Given the description of an element on the screen output the (x, y) to click on. 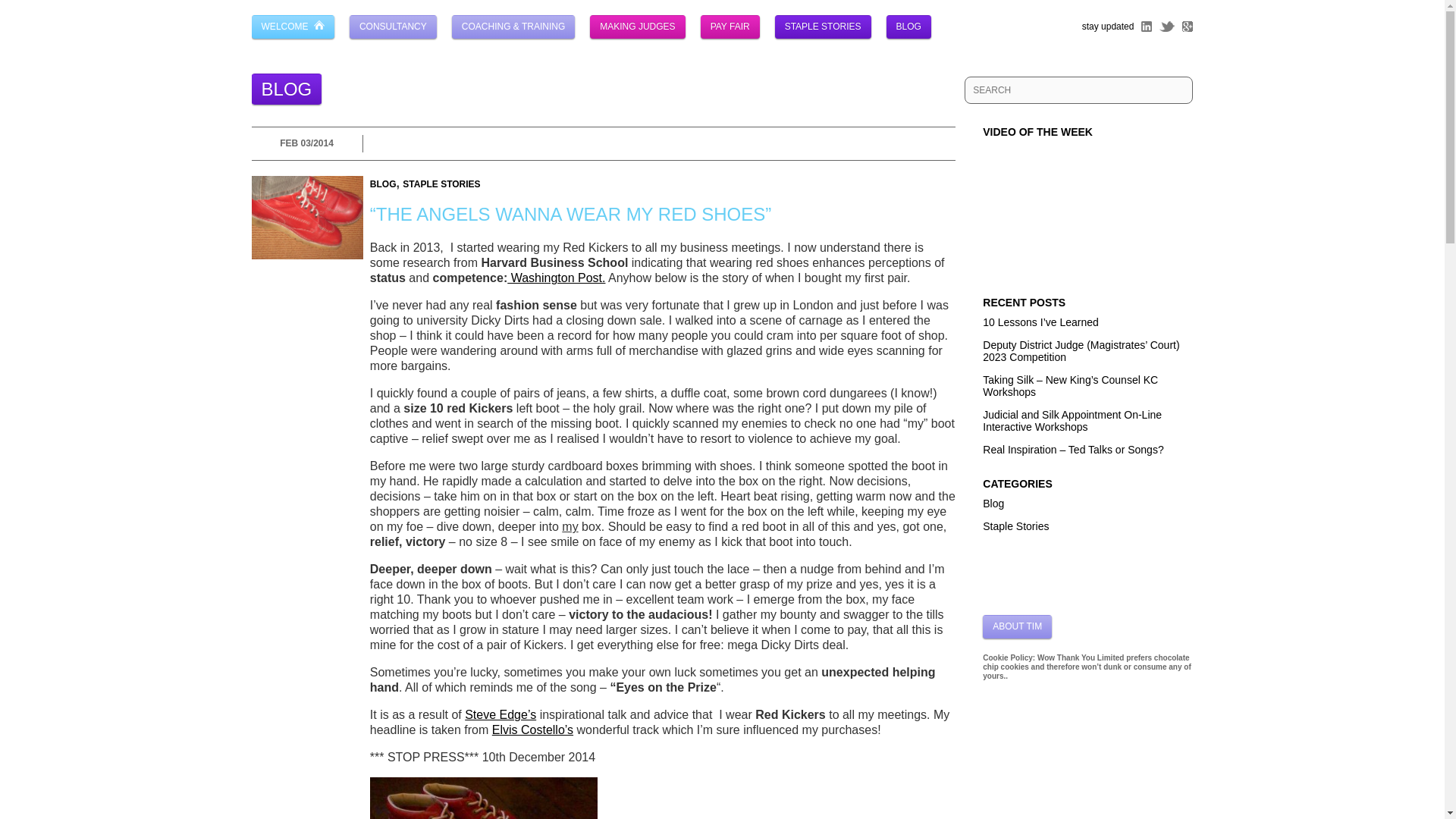
Judicial and Silk Appointment On-Line Interactive Workshops (1071, 420)
BLOG (908, 26)
STAPLE STORIES (441, 184)
Francesca Gino Harvard Business School Professor (555, 277)
 Washington Post. (555, 277)
ABOUT TIM (1016, 626)
STAPLE STORIES (822, 26)
Blog (993, 503)
MAKING JUDGES (636, 26)
CONSULTANCY (392, 26)
WELCOME (292, 26)
BLOG (382, 184)
PAY FAIR (730, 26)
Staple Stories (1015, 526)
